Given the description of an element on the screen output the (x, y) to click on. 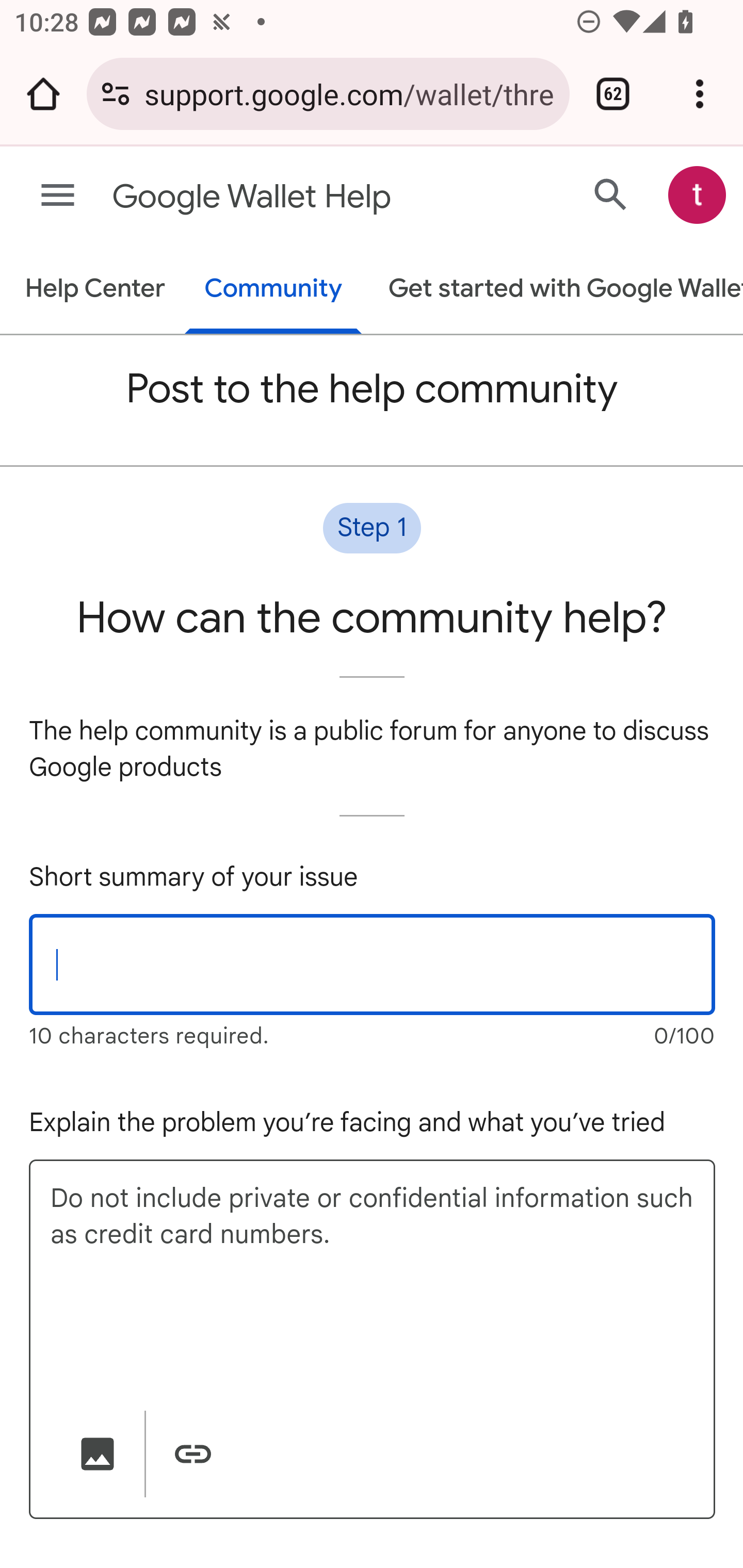
Open the home page (43, 93)
Connection is secure (115, 93)
Switch or close tabs (612, 93)
Customize and control Google Chrome (699, 93)
Main menu (58, 195)
Google Wallet Help (292, 197)
Search Help Center (611, 194)
Help Center (94, 289)
Community (273, 289)
Get started with Google Wallet (555, 289)
Attach Image (97, 1454)
Insert link (Ctrl+k) (191, 1454)
